Given the description of an element on the screen output the (x, y) to click on. 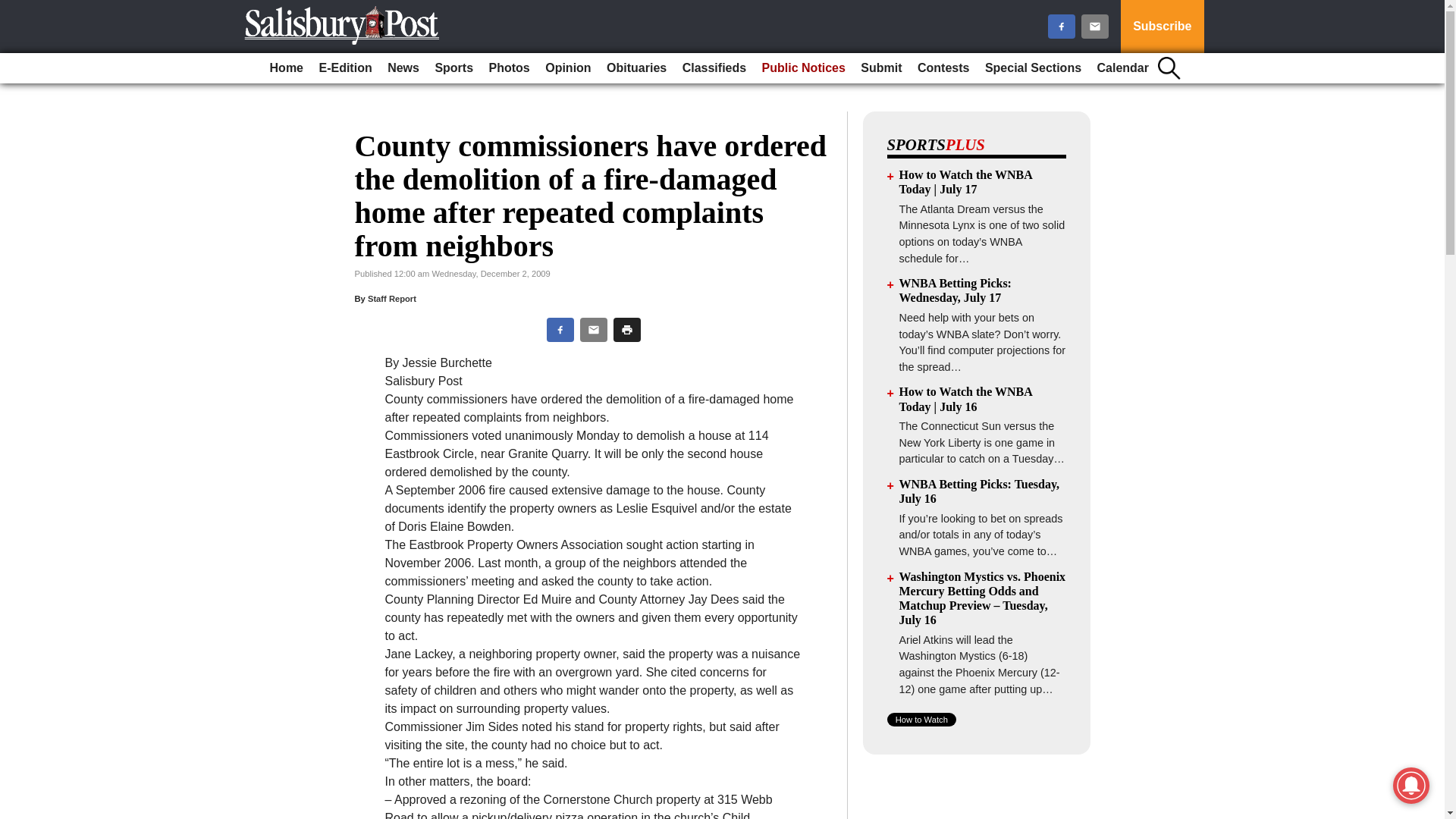
Classifieds (714, 68)
Contests (943, 68)
Special Sections (1032, 68)
Subscribe (1162, 26)
Submit (880, 68)
Home (285, 68)
Sports (453, 68)
Public Notices (803, 68)
Opinion (567, 68)
Obituaries (635, 68)
E-Edition (345, 68)
Photos (509, 68)
News (403, 68)
